Given the description of an element on the screen output the (x, y) to click on. 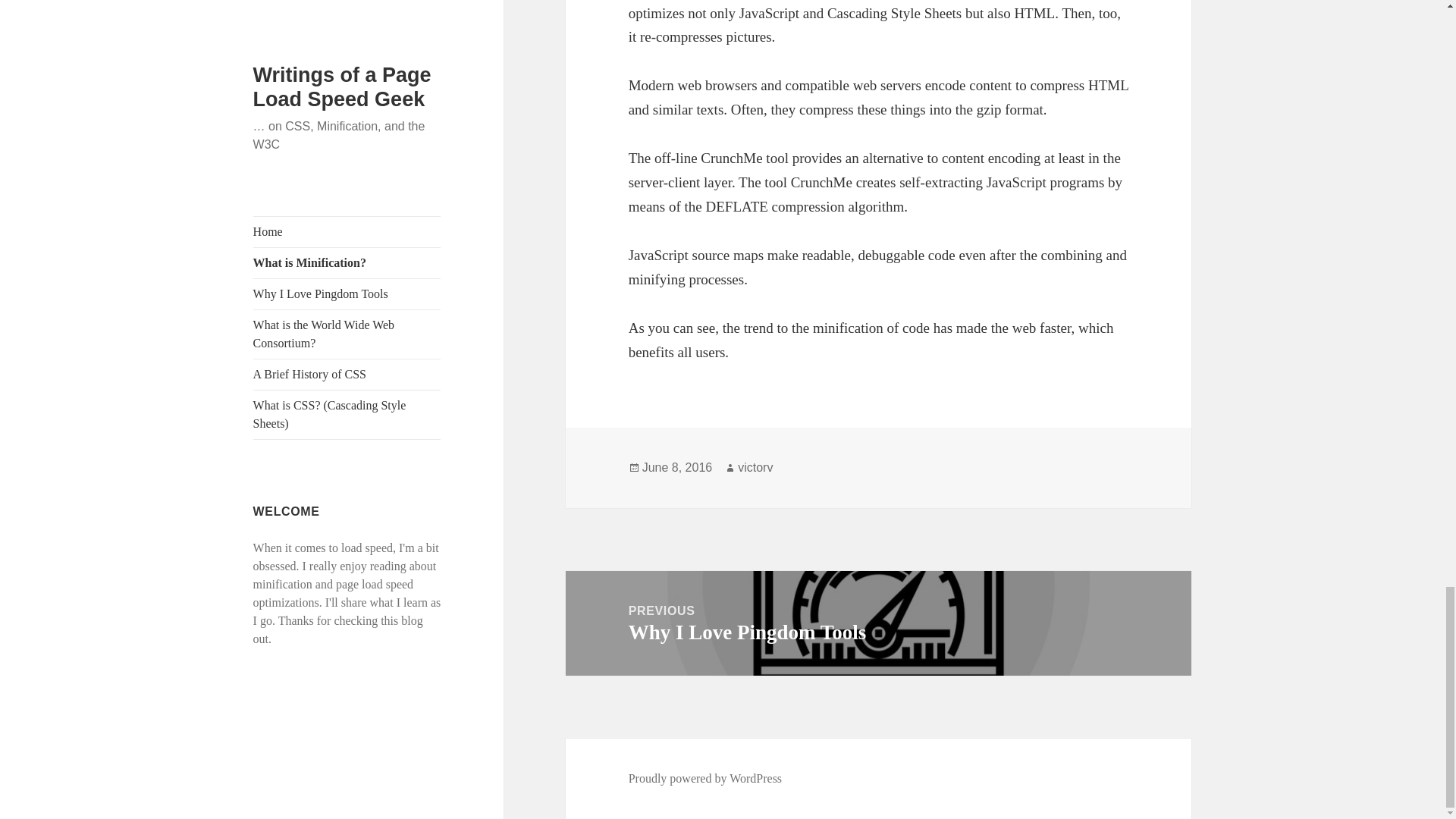
Proudly powered by WordPress (704, 778)
June 8, 2016 (677, 468)
victorv (755, 468)
